Given the description of an element on the screen output the (x, y) to click on. 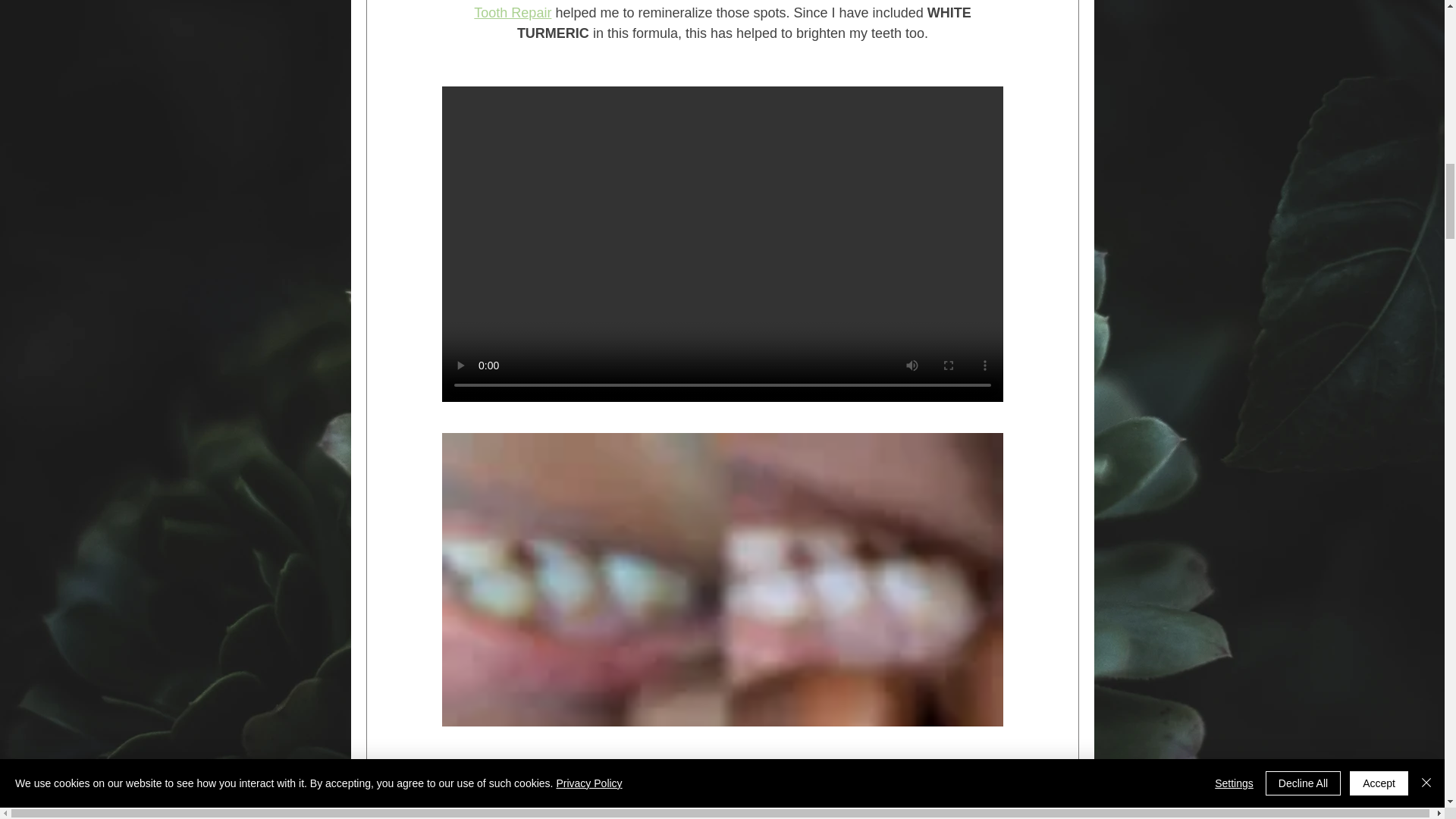
Tooth Repair (512, 12)
